Given the description of an element on the screen output the (x, y) to click on. 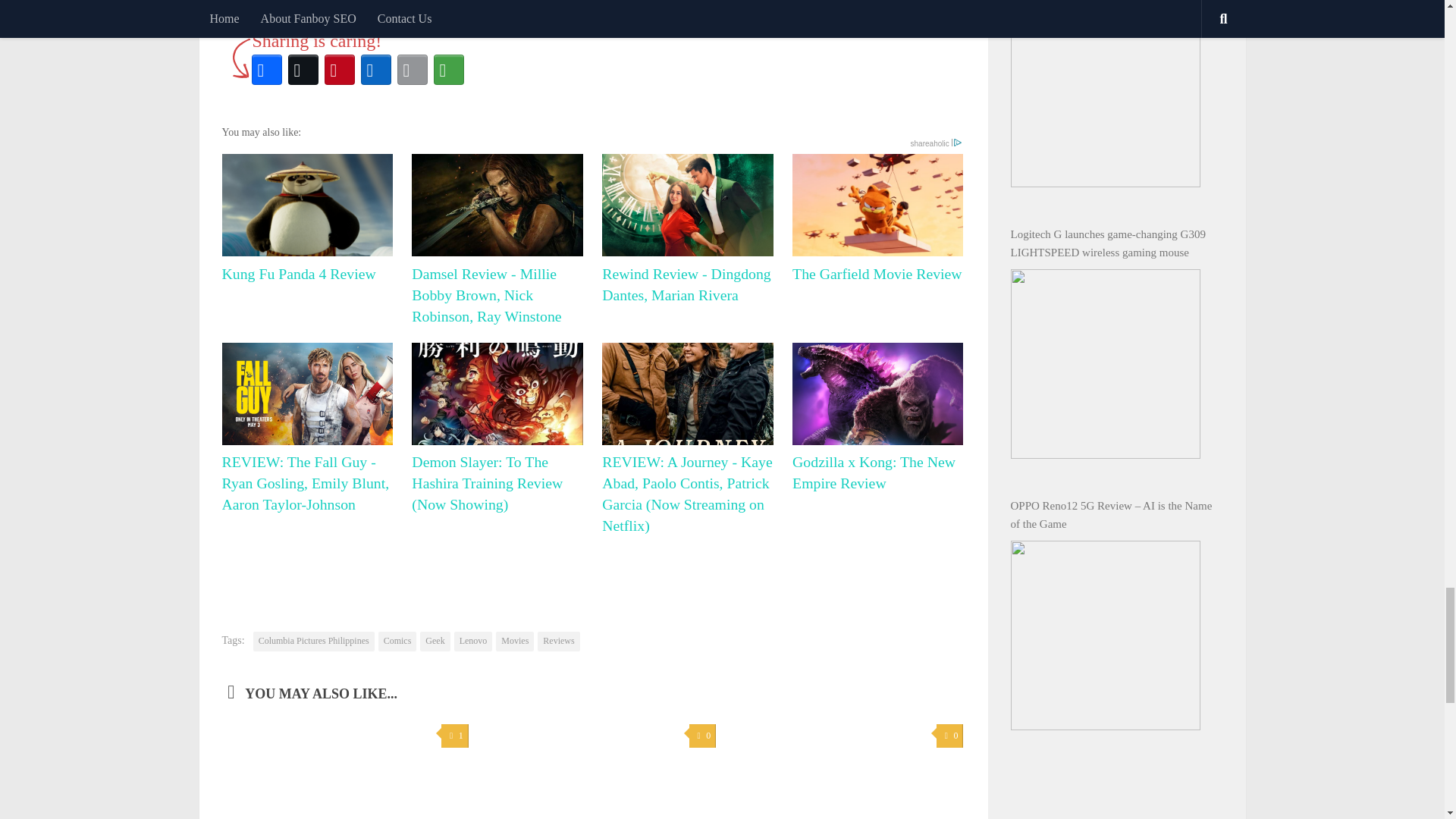
Email This (412, 69)
Facebook (266, 69)
Pinterest (339, 69)
LinkedIn (376, 69)
